Given the description of an element on the screen output the (x, y) to click on. 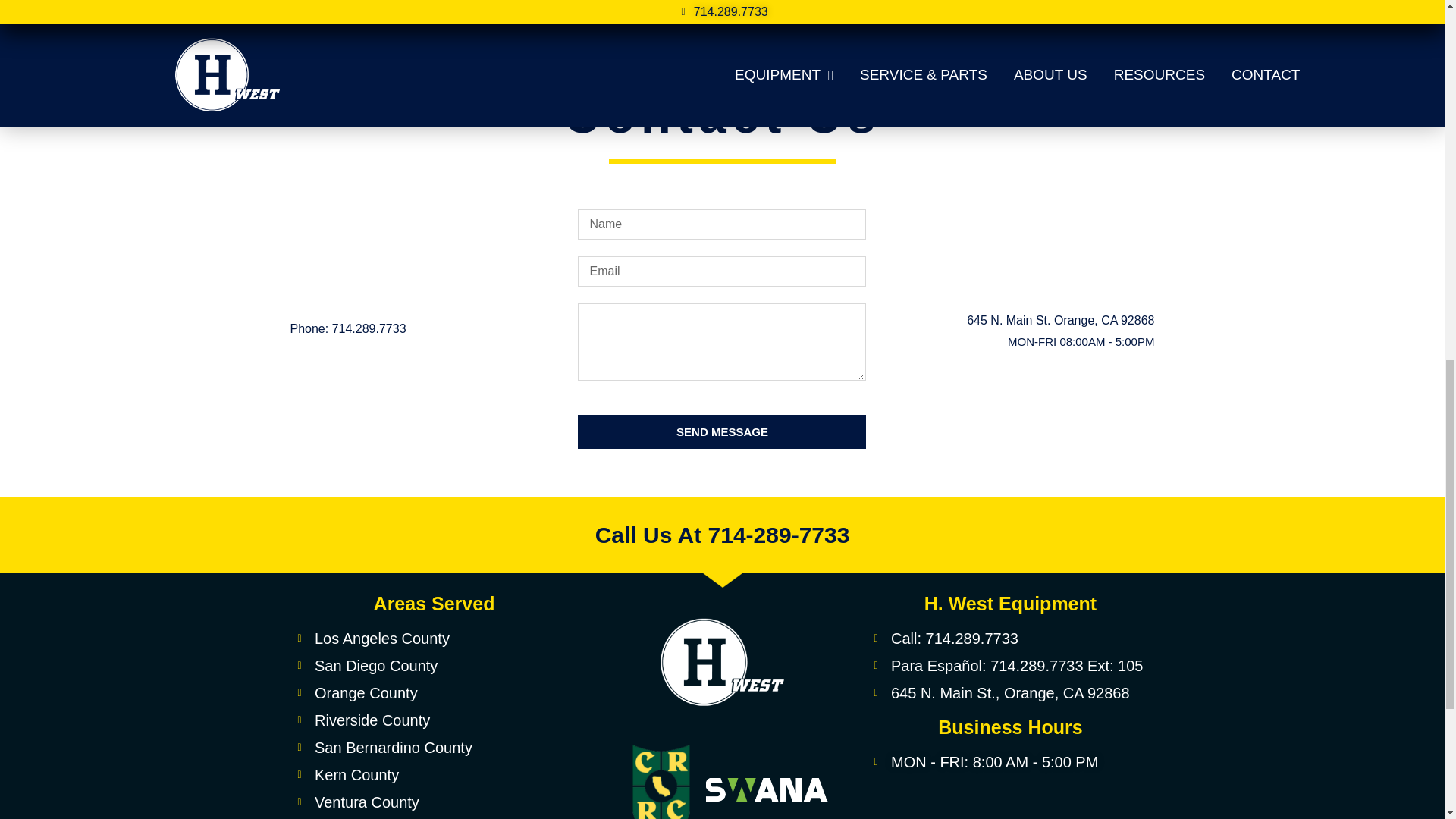
645 N. Main Street, Orange, CA 92868 (1010, 803)
